Given the description of an element on the screen output the (x, y) to click on. 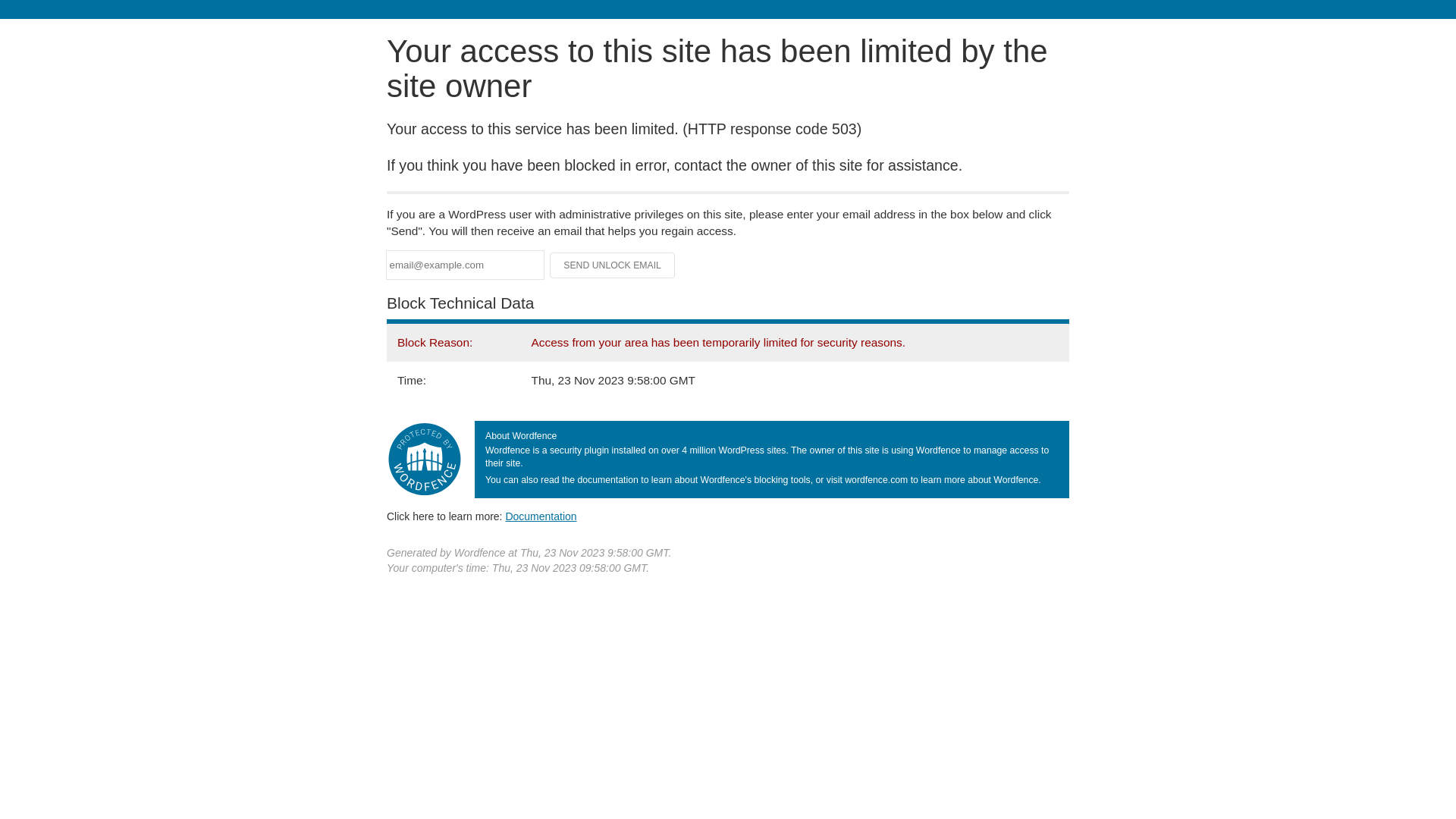
Send Unlock Email Element type: text (612, 265)
Documentation Element type: text (540, 516)
